Given the description of an element on the screen output the (x, y) to click on. 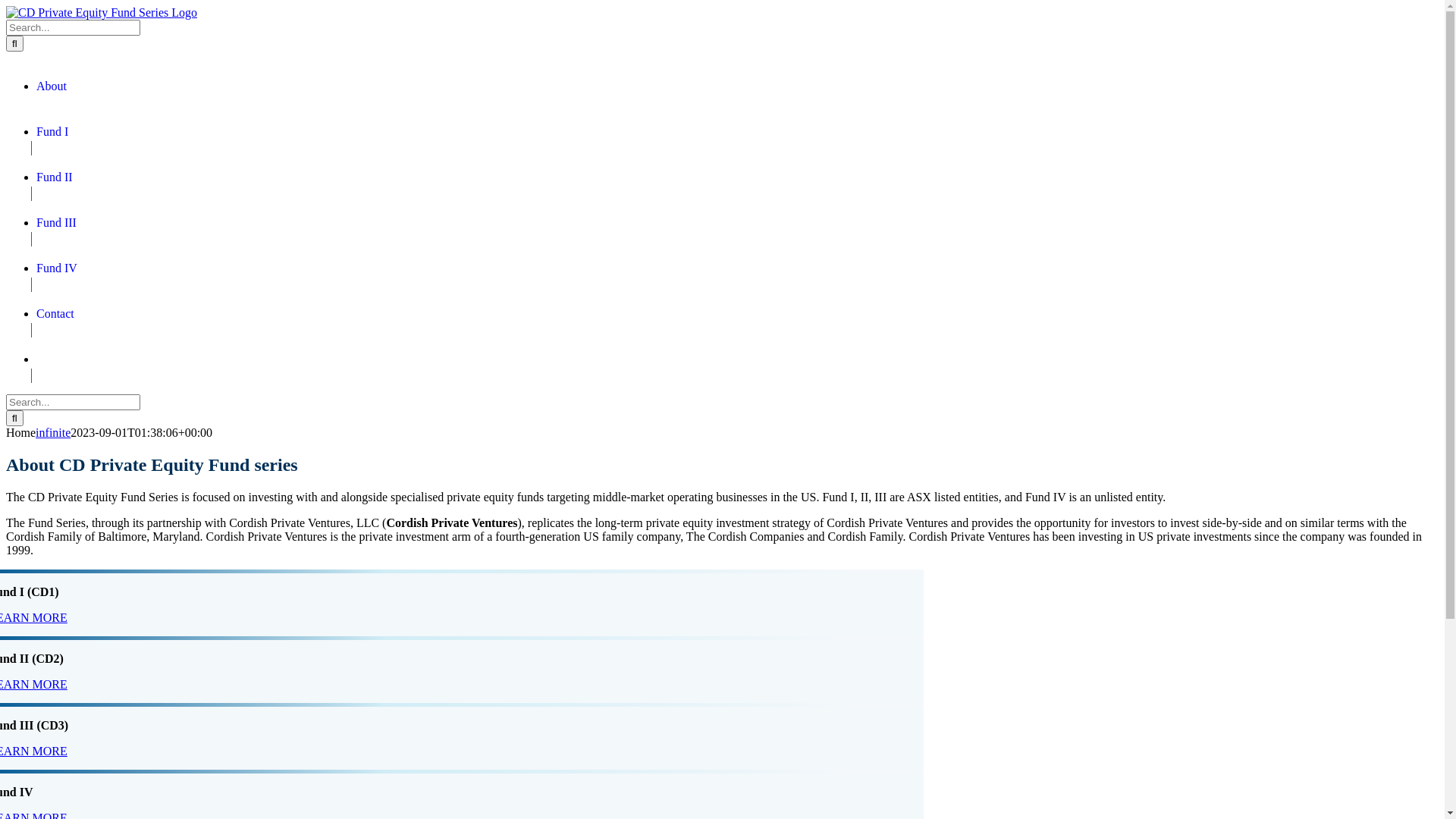
About Element type: text (51, 85)
Fund II Element type: text (54, 176)
Fund III Element type: text (56, 222)
Skip to content Element type: text (5, 5)
Fund I Element type: text (52, 131)
Fund IV Element type: text (56, 267)
Contact Element type: text (55, 313)
infinite Element type: text (52, 432)
